Given the description of an element on the screen output the (x, y) to click on. 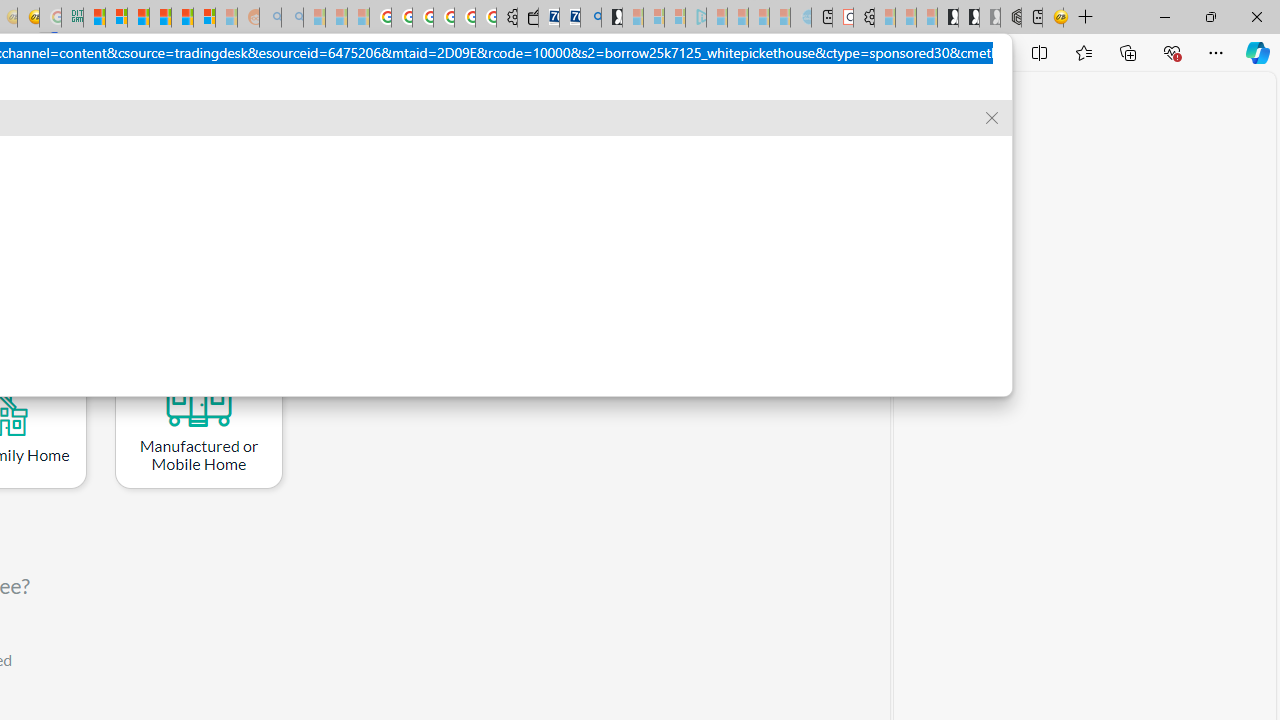
Disclosures (241, 110)
Remove suggestion (991, 117)
Bing Real Estate - Home sales and rental listings (591, 17)
Kinda Frugal - MSN (182, 17)
